Given the description of an element on the screen output the (x, y) to click on. 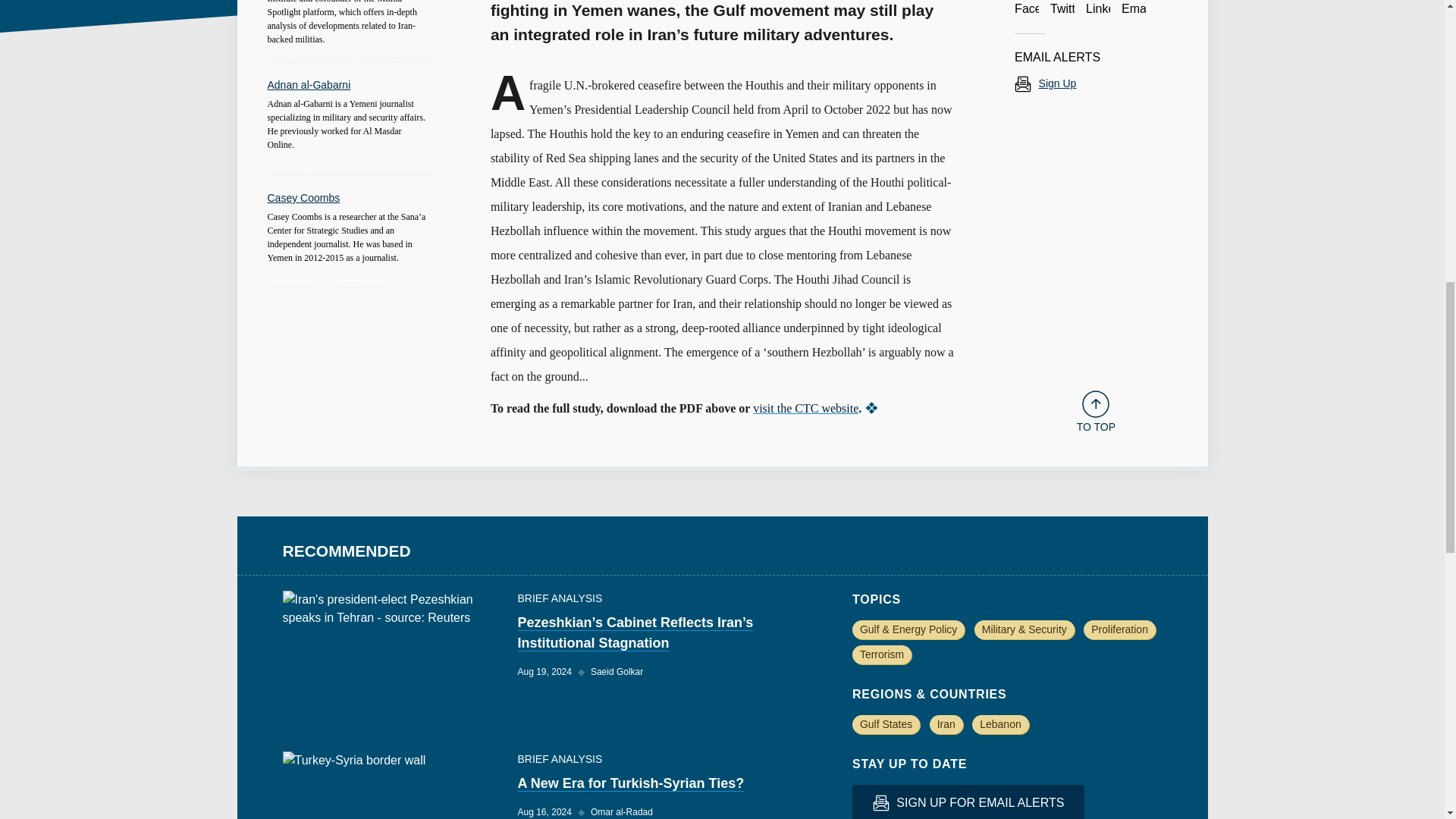
Facebook (1026, 9)
Linkedin (1097, 9)
Email (1133, 9)
Twitter (1061, 9)
